Given the description of an element on the screen output the (x, y) to click on. 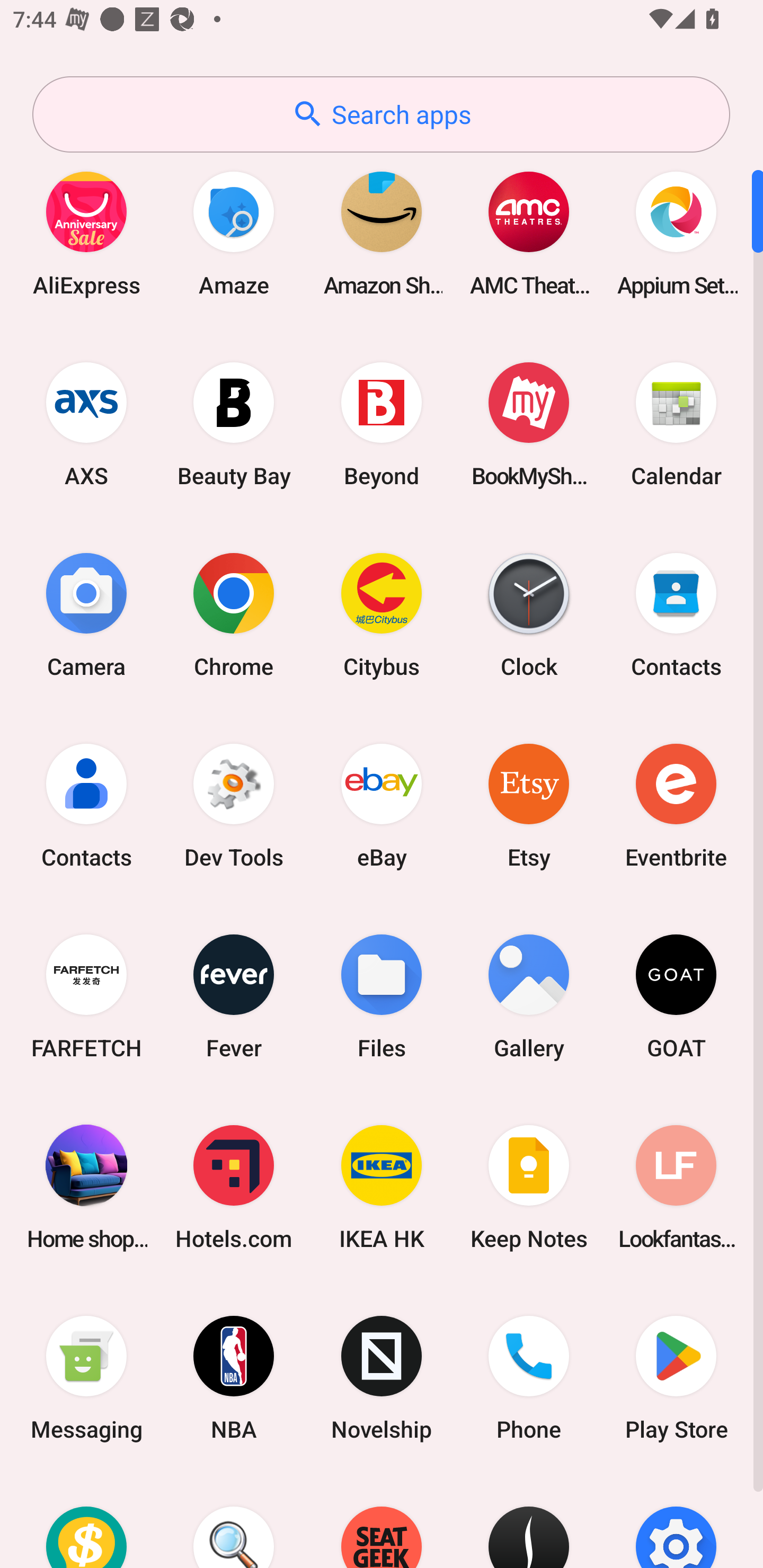
  Search apps (381, 114)
AliExpress (86, 233)
Amaze (233, 233)
Amazon Shopping (381, 233)
AMC Theatres (528, 233)
Appium Settings (676, 233)
AXS (86, 424)
Beauty Bay (233, 424)
Beyond (381, 424)
BookMyShow (528, 424)
Calendar (676, 424)
Camera (86, 614)
Chrome (233, 614)
Citybus (381, 614)
Clock (528, 614)
Contacts (676, 614)
Contacts (86, 805)
Dev Tools (233, 805)
eBay (381, 805)
Etsy (528, 805)
Eventbrite (676, 805)
FARFETCH (86, 996)
Fever (233, 996)
Files (381, 996)
Gallery (528, 996)
GOAT (676, 996)
Home shopping (86, 1186)
Hotels.com (233, 1186)
IKEA HK (381, 1186)
Keep Notes (528, 1186)
Lookfantastic (676, 1186)
Messaging (86, 1377)
NBA (233, 1377)
Novelship (381, 1377)
Phone (528, 1377)
Play Store (676, 1377)
